Given the description of an element on the screen output the (x, y) to click on. 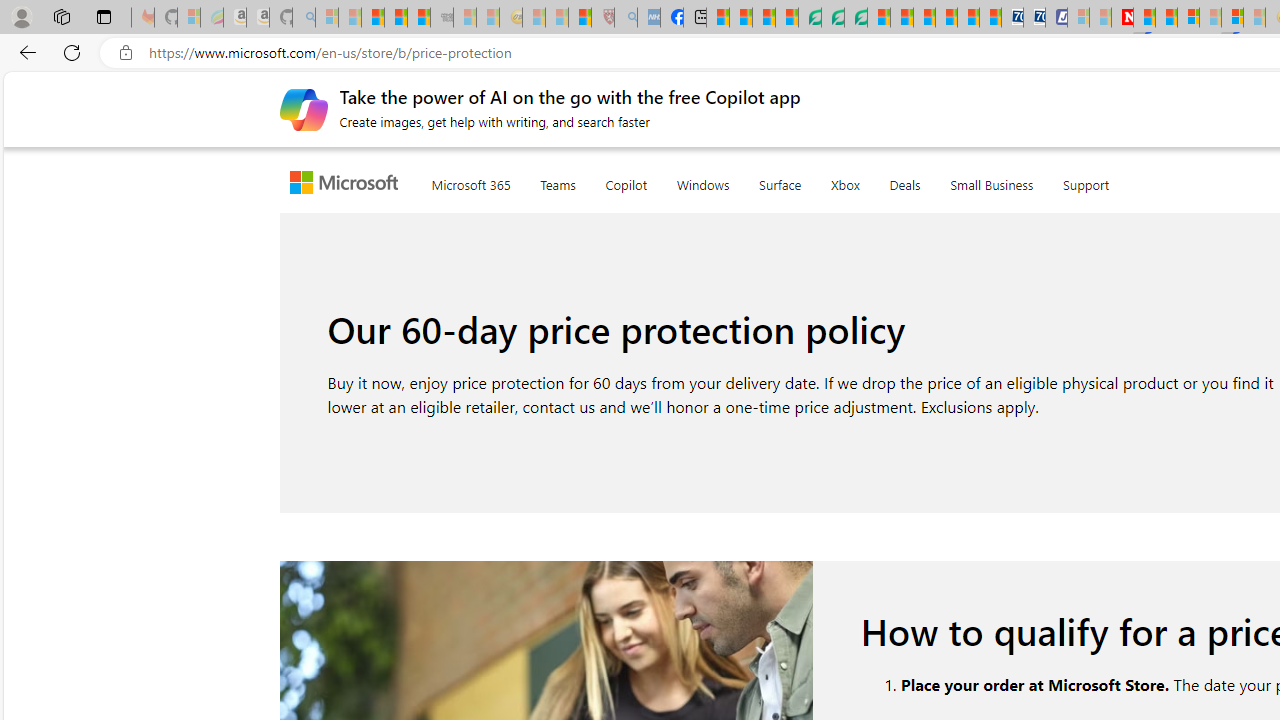
Surface (780, 181)
Small Business (991, 180)
Deals (905, 181)
New Report Confirms 2023 Was Record Hot | Watch (419, 17)
Microsoft (348, 184)
Xbox (844, 181)
MSNBC - MSN (717, 17)
